Given the description of an element on the screen output the (x, y) to click on. 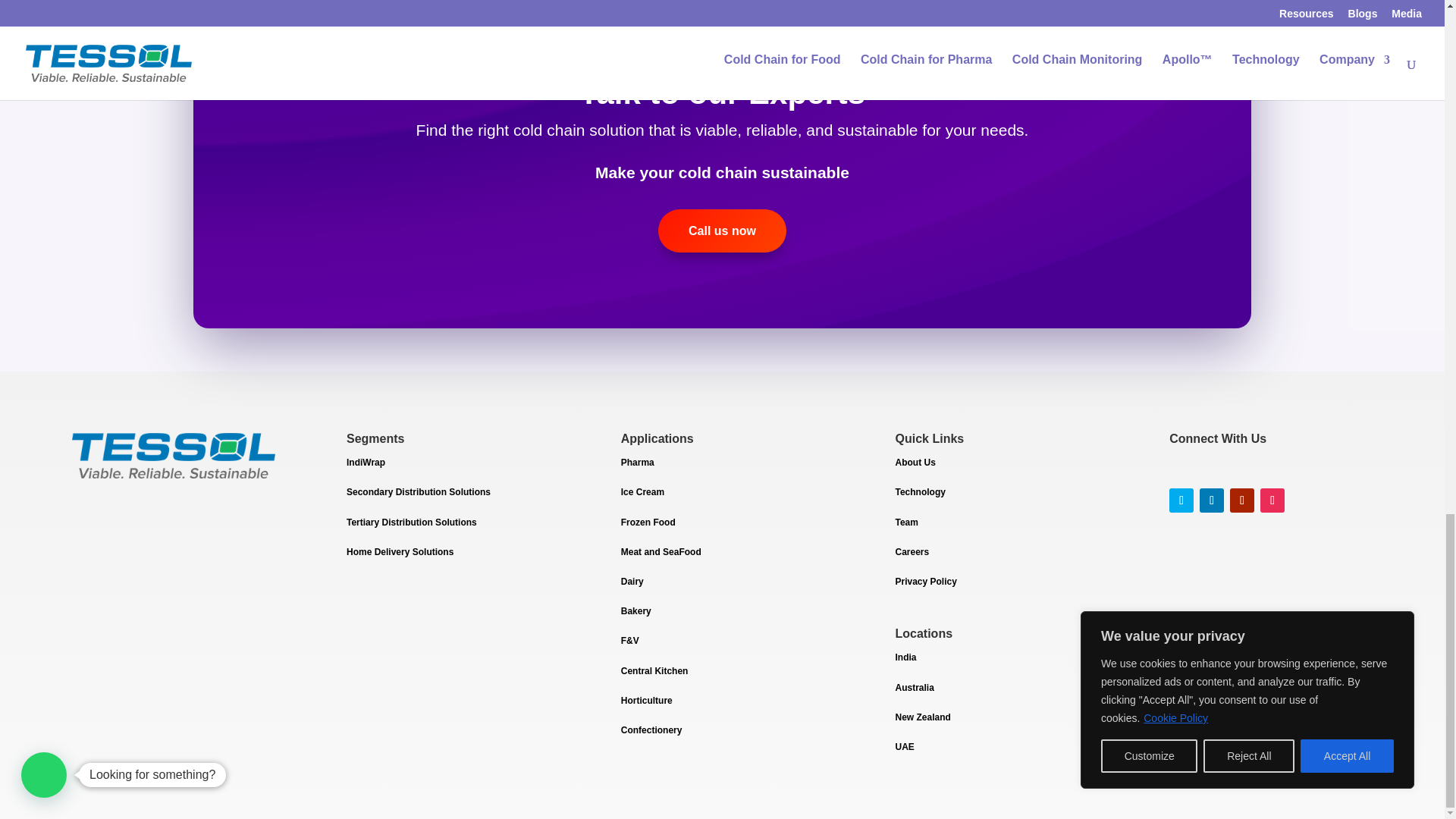
Follow on LinkedIn (1211, 500)
Follow on Twitter (1181, 500)
Follow on Instagram (1272, 500)
Follow on Youtube (1241, 500)
